Given the description of an element on the screen output the (x, y) to click on. 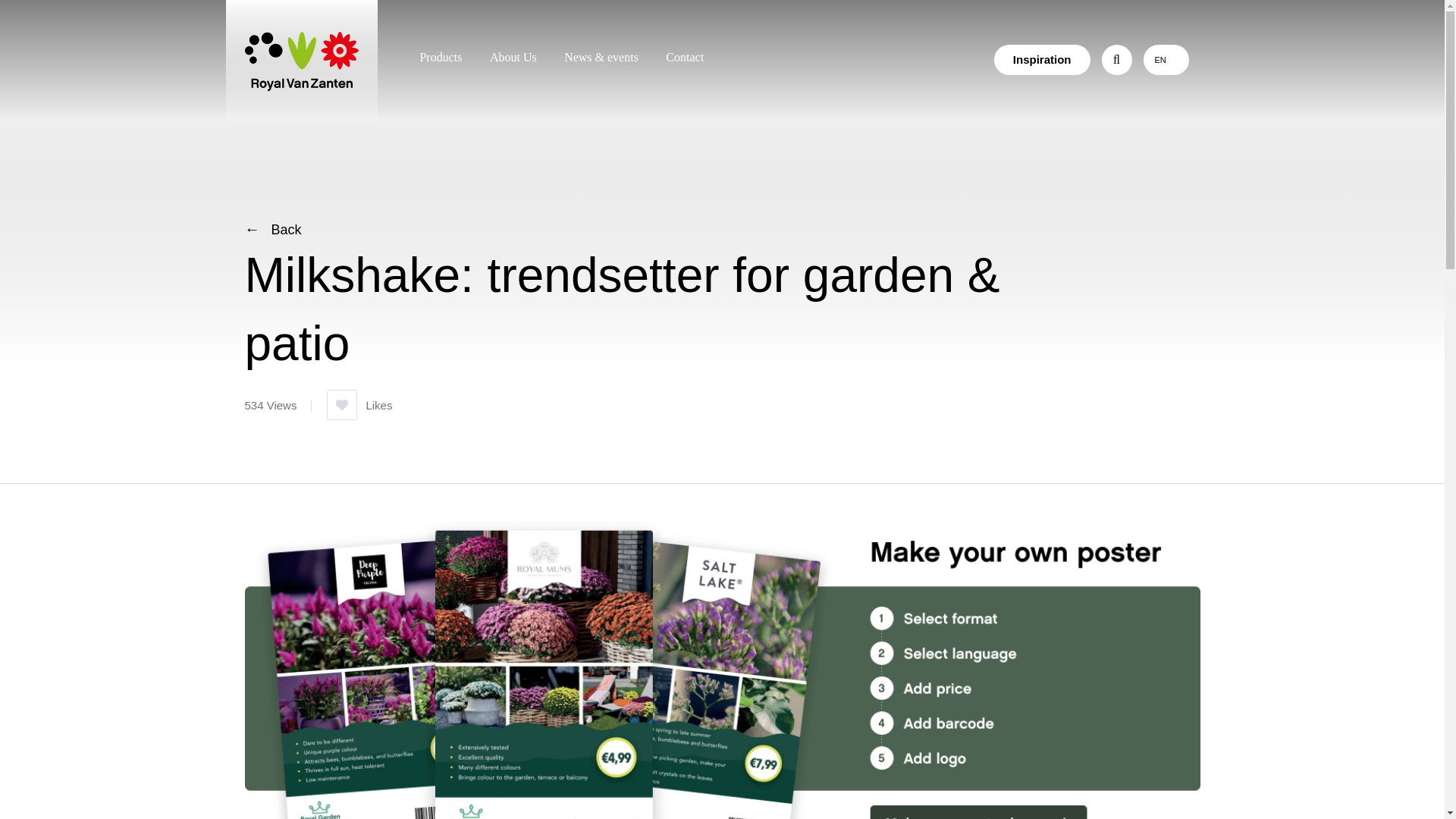
Contact (684, 57)
Products (440, 57)
EN (1159, 60)
About Us (513, 57)
Inspiration (1042, 60)
Search (1068, 58)
Back (272, 229)
